Given the description of an element on the screen output the (x, y) to click on. 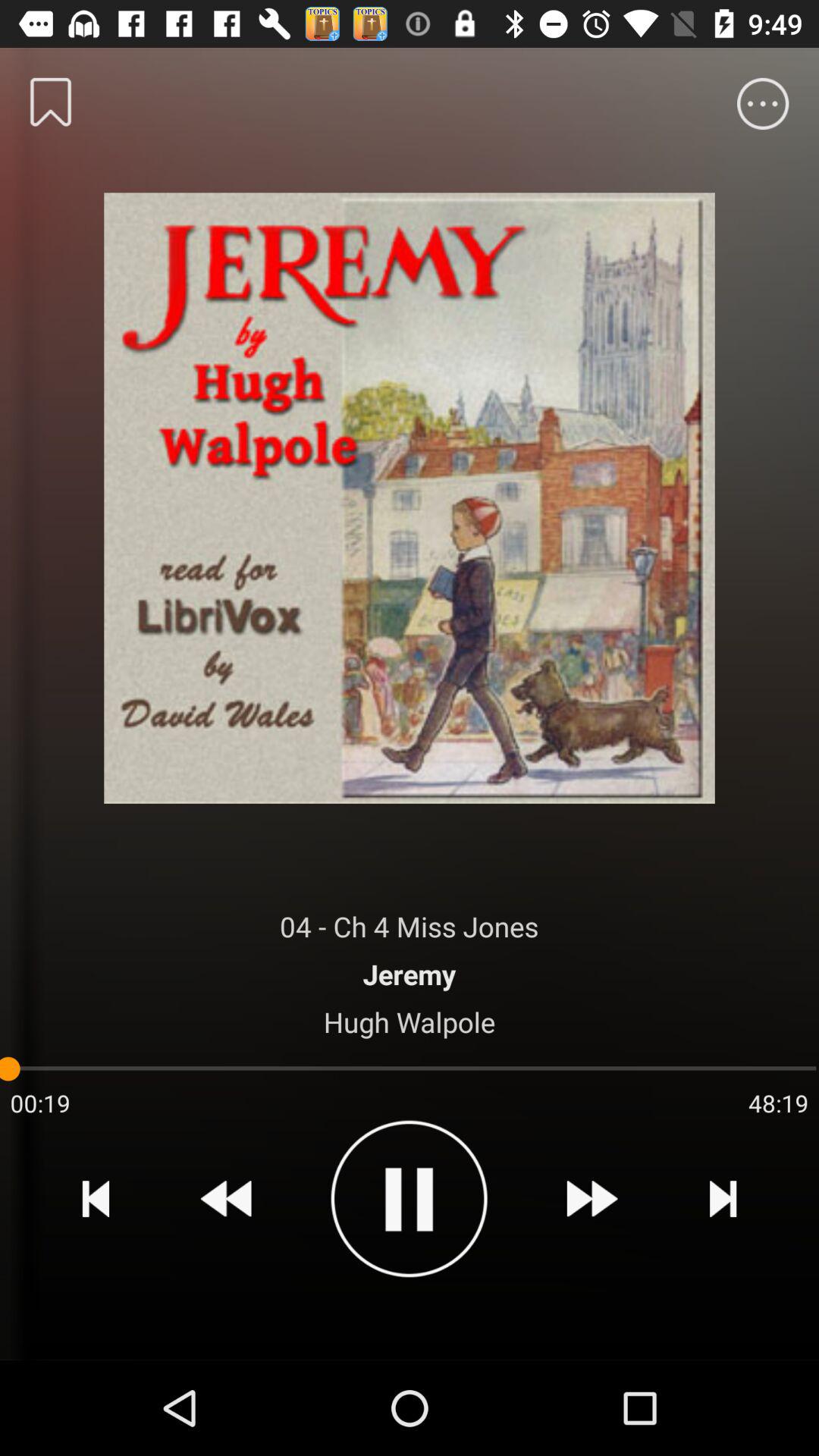
turn off the item at the top left corner (50, 102)
